Given the description of an element on the screen output the (x, y) to click on. 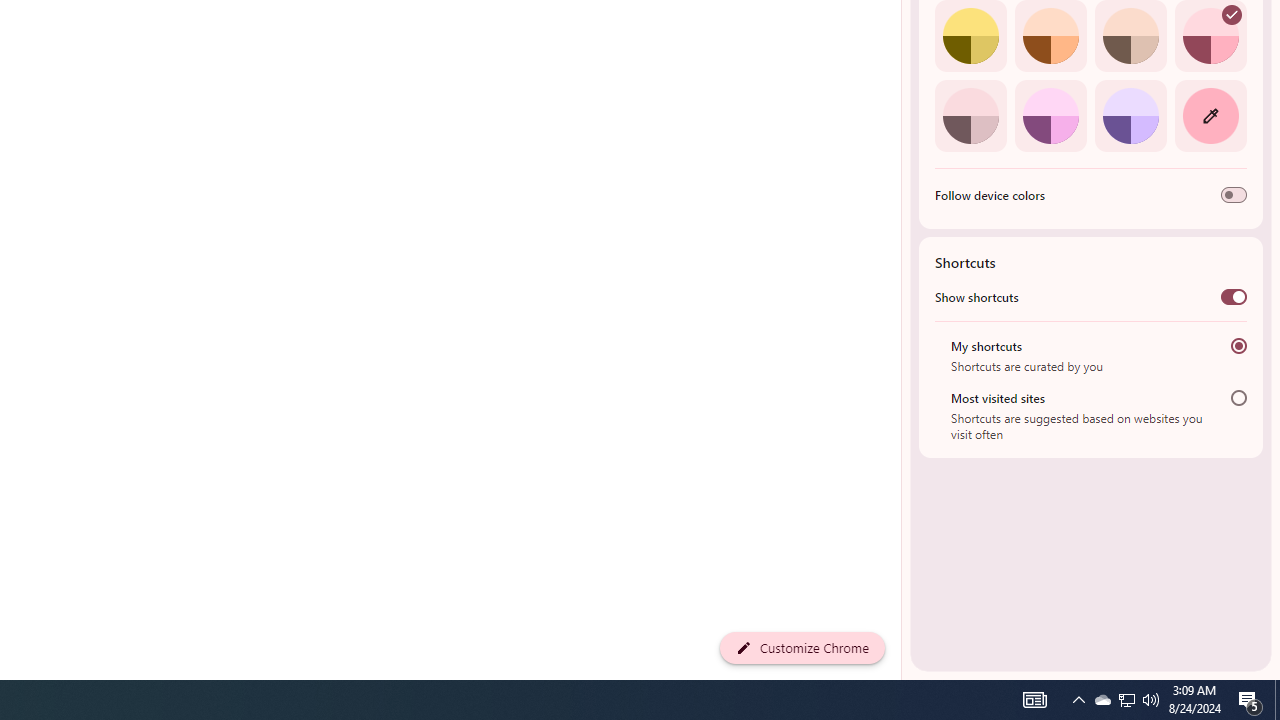
Follow device colors (1233, 195)
